Given the description of an element on the screen output the (x, y) to click on. 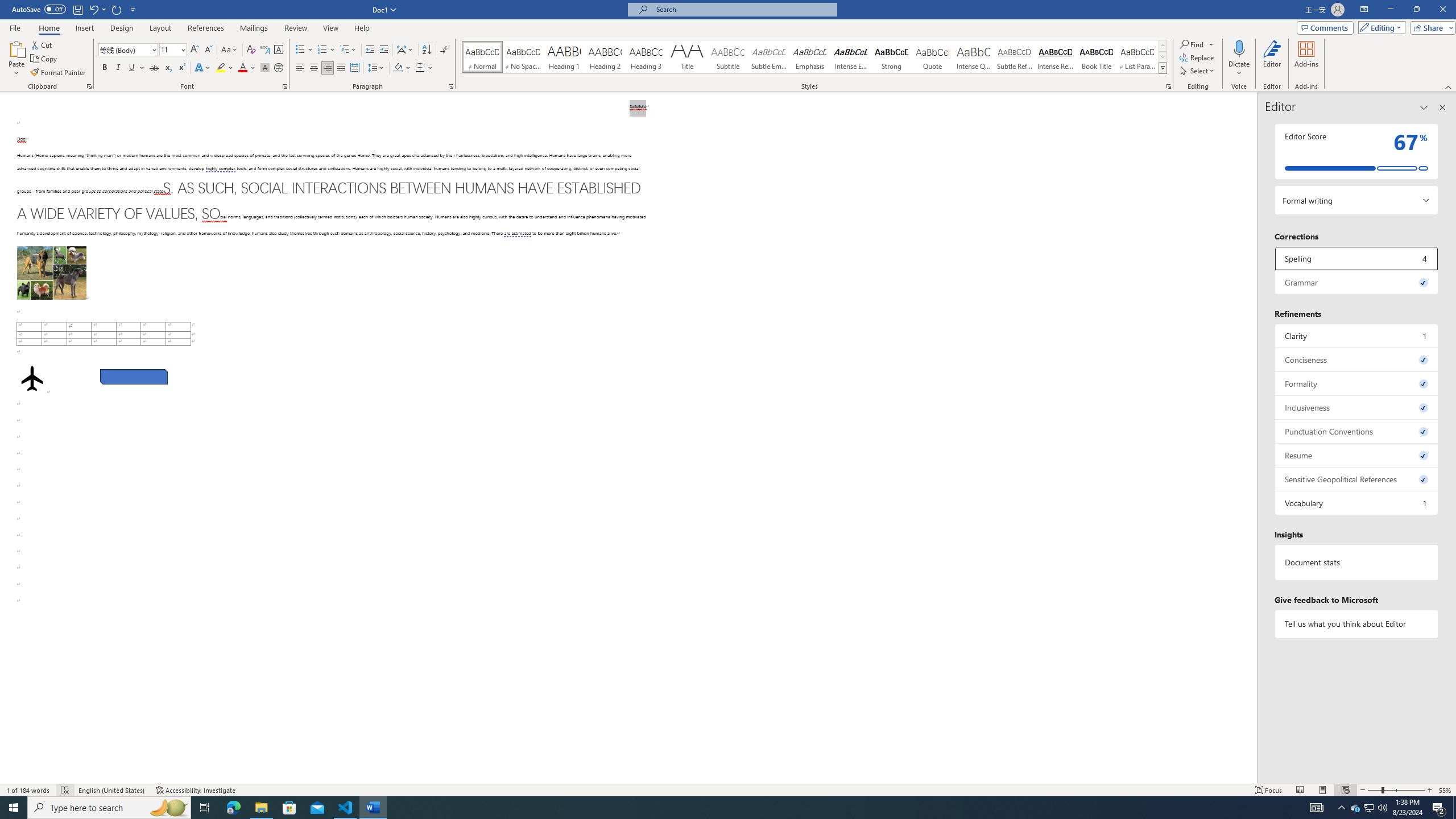
AutomationID: QuickStylesGallery (814, 56)
Resume, 0 issues. Press space or enter to review items. (1356, 454)
Title (686, 56)
